Given the description of an element on the screen output the (x, y) to click on. 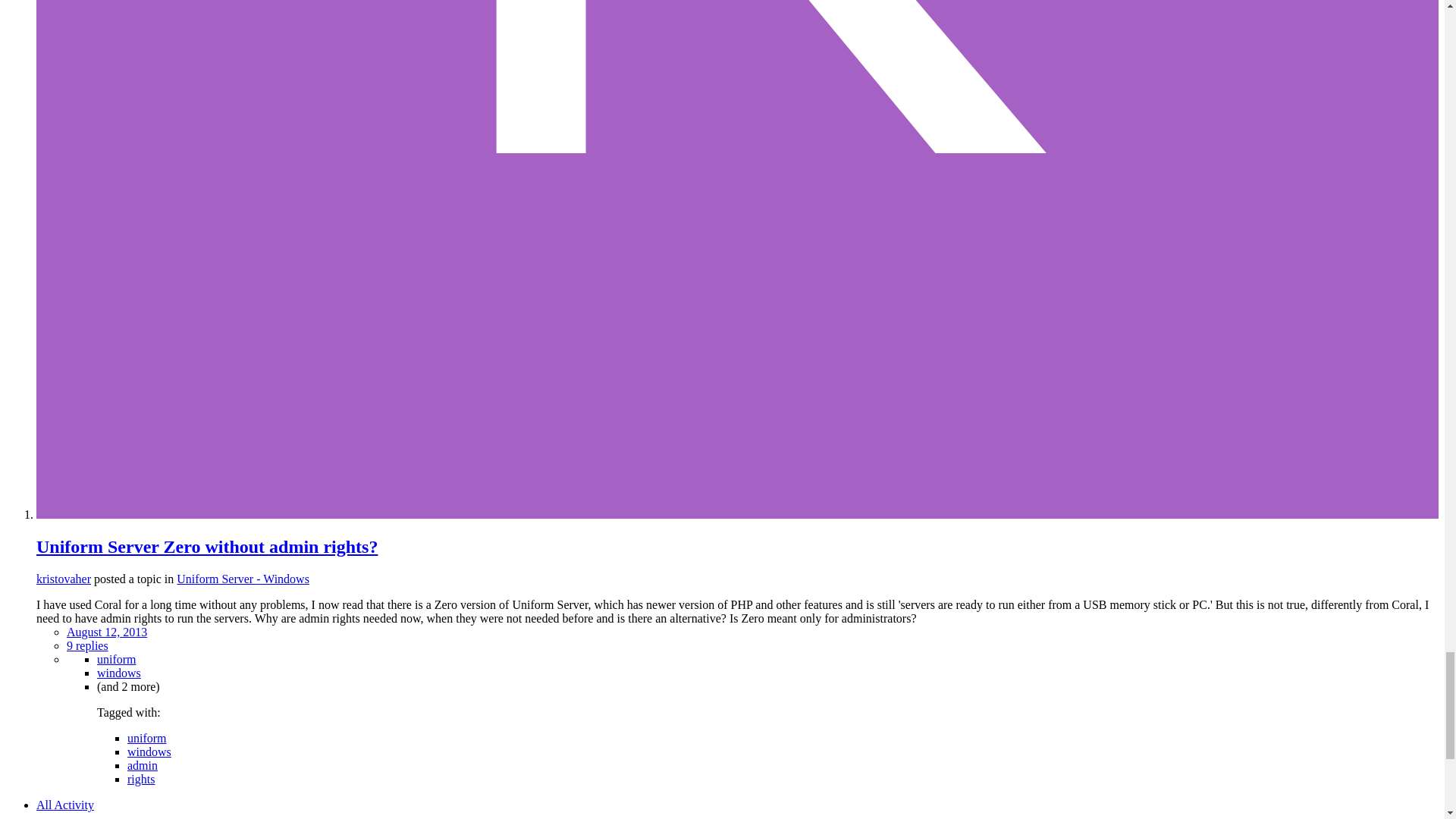
Find other content tagged with 'rights' (141, 779)
Find other content tagged with 'uniform' (147, 738)
Find other content tagged with 'windows' (149, 751)
Go to kristovaher's profile (63, 578)
Find other content tagged with 'admin' (142, 765)
Find other content tagged with 'windows' (119, 672)
Find other content tagged with 'uniform' (116, 658)
